Given the description of an element on the screen output the (x, y) to click on. 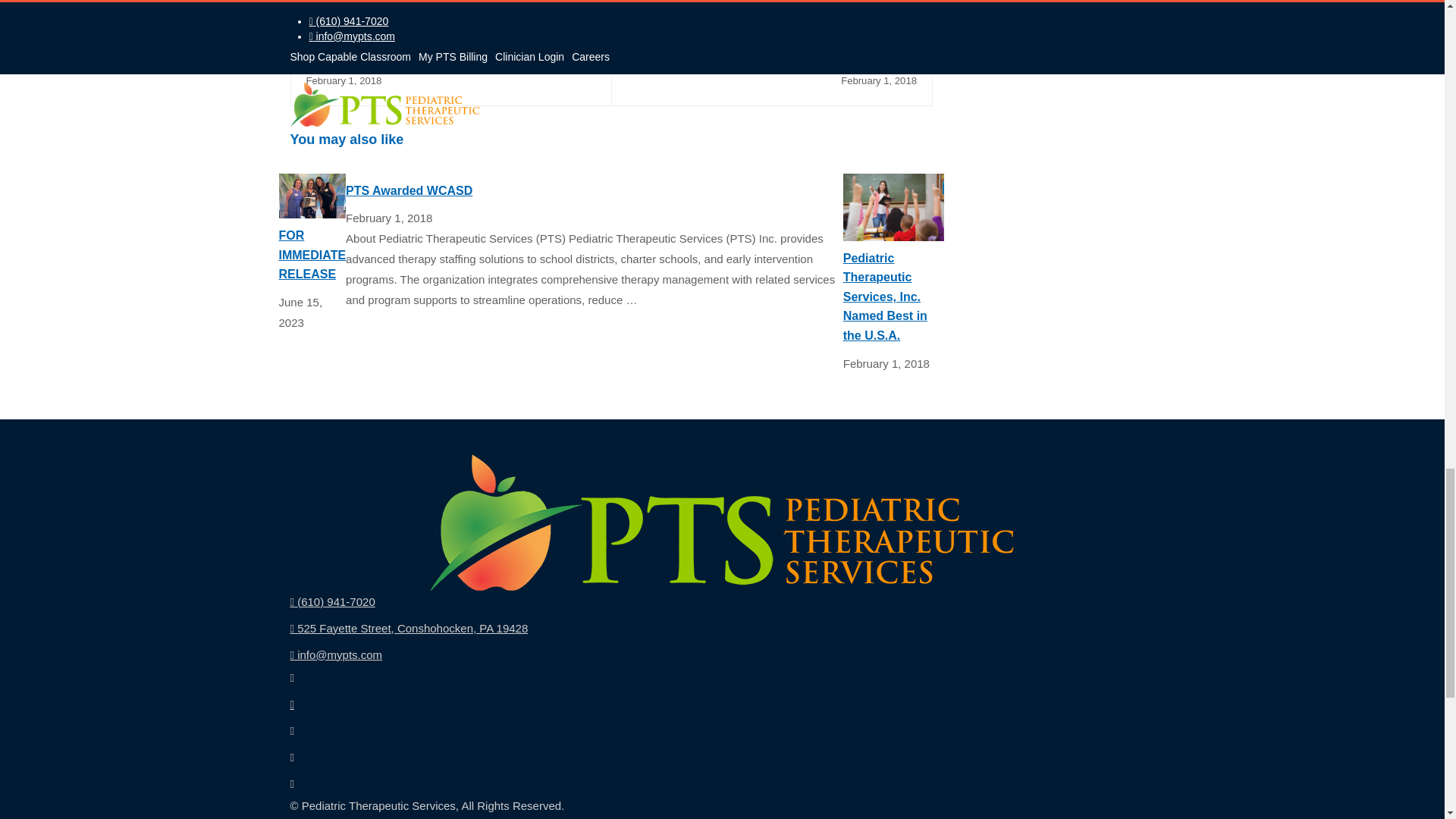
PTS Winner (312, 195)
FOR IMMEDIATE RELEASE (312, 194)
MyPTS-About-2 (893, 206)
